Given the description of an element on the screen output the (x, y) to click on. 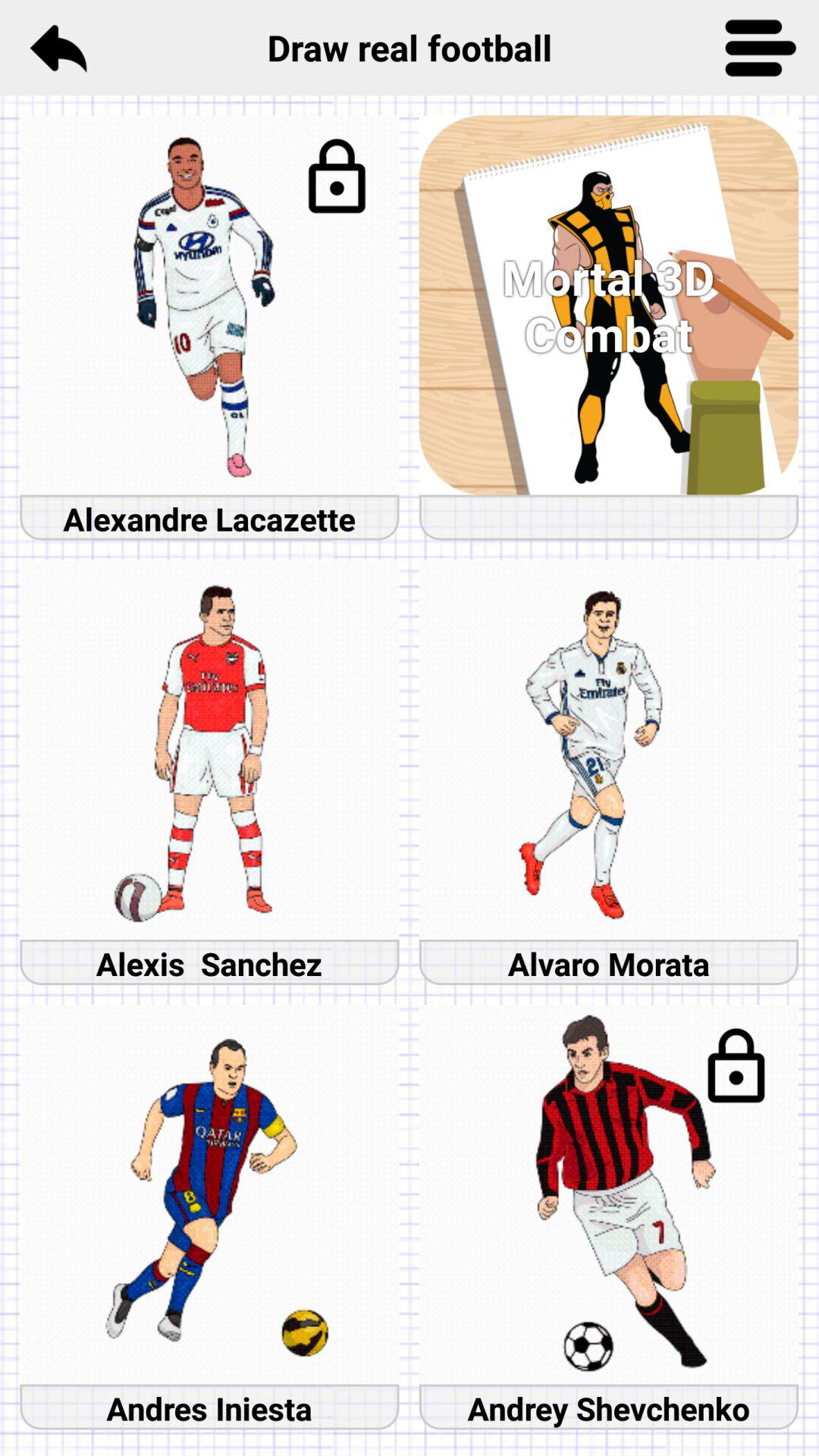
open the icon to the right of draw real football (760, 47)
